Given the description of an element on the screen output the (x, y) to click on. 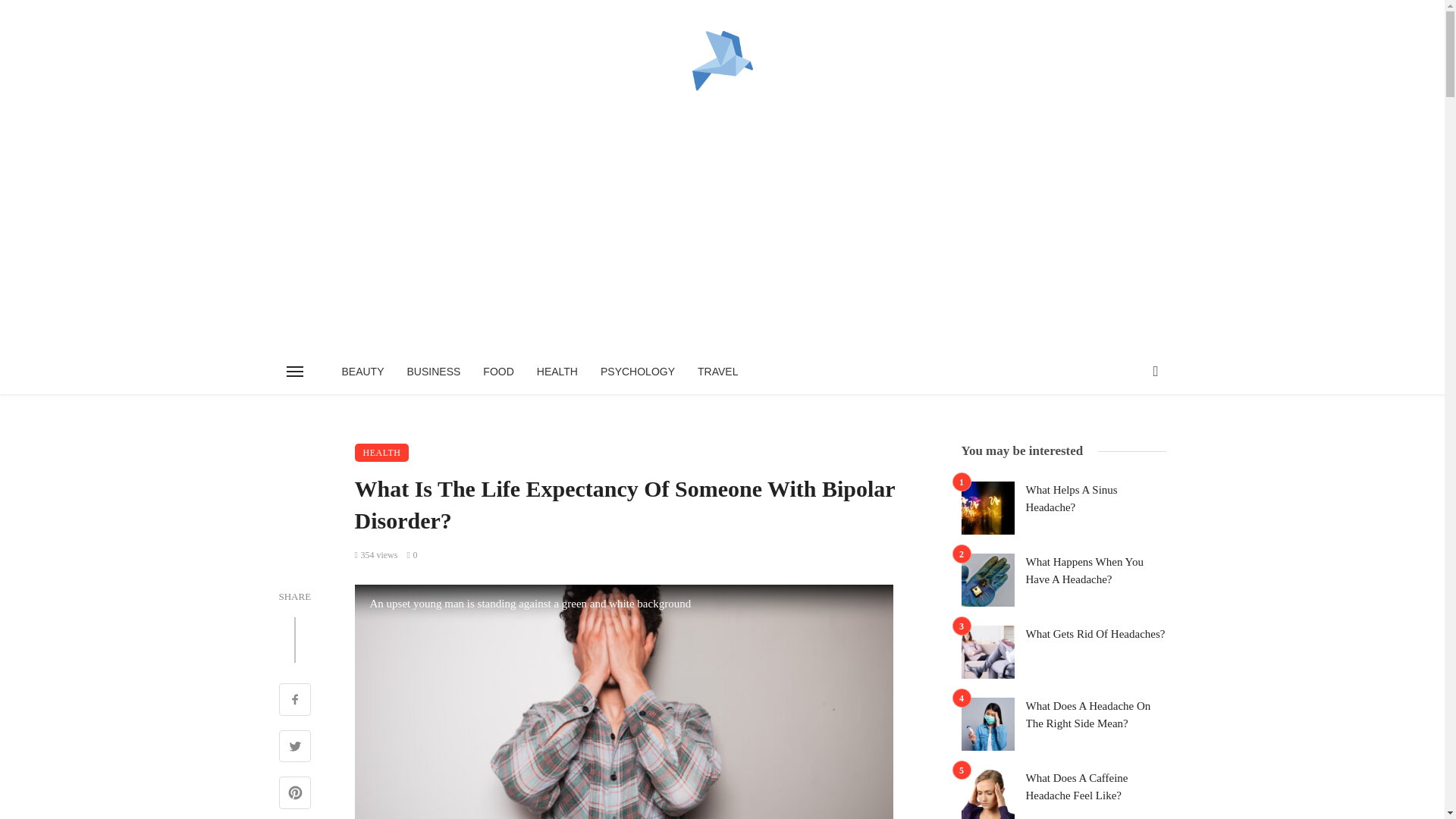
TRAVEL (717, 370)
FOOD (497, 370)
BEAUTY (363, 370)
BUSINESS (433, 370)
Share on Facebook (295, 701)
Share on Twitter (295, 748)
HEALTH (382, 452)
PSYCHOLOGY (637, 370)
0 (411, 554)
